Given the description of an element on the screen output the (x, y) to click on. 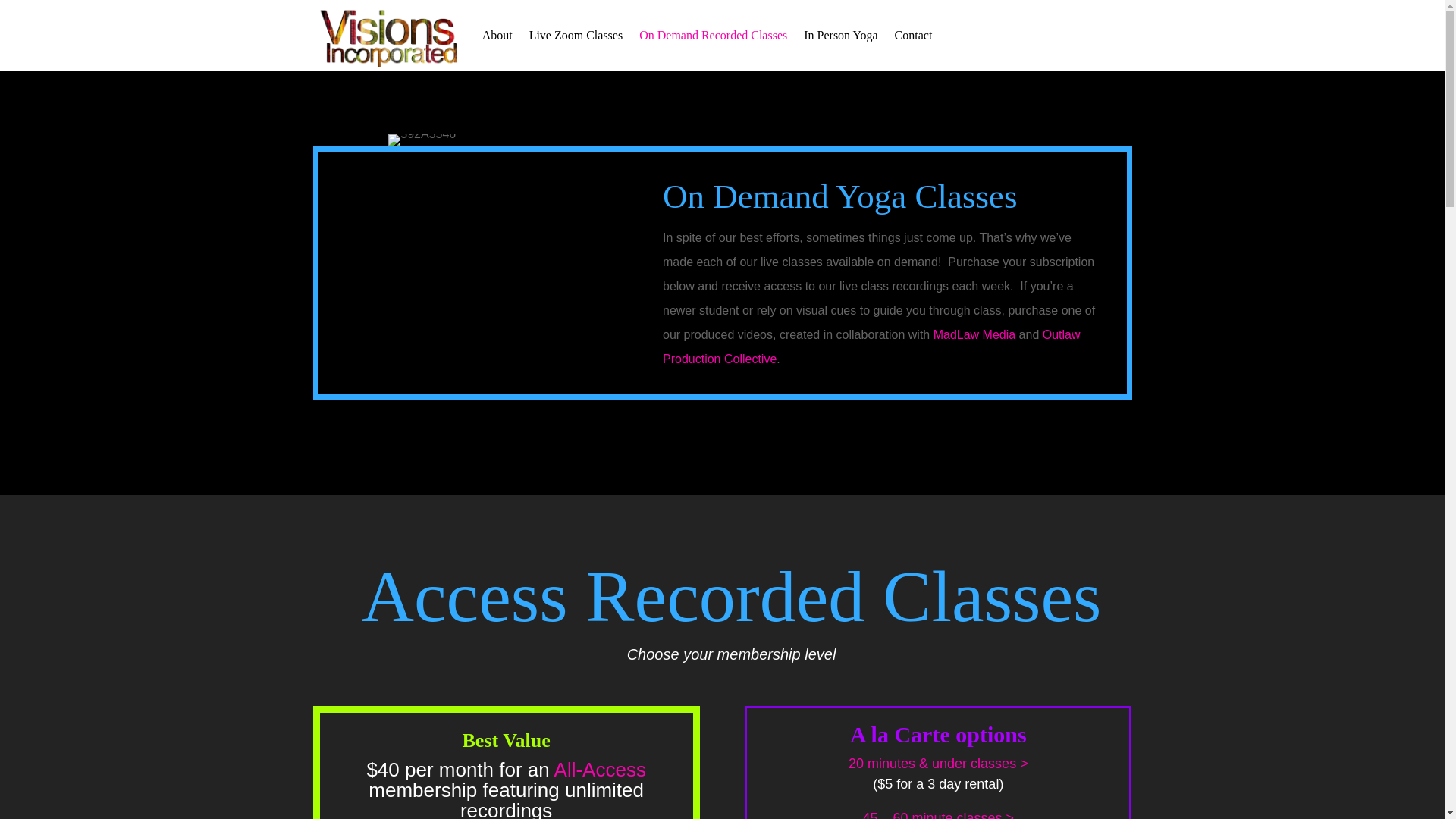
In Person Yoga (840, 35)
Outlaw Production Collective (871, 346)
Live Zoom Classes (576, 35)
592A5546 (421, 140)
MadLaw Media (974, 334)
All-Access (600, 769)
On Demand Recorded Classes (713, 35)
